Given the description of an element on the screen output the (x, y) to click on. 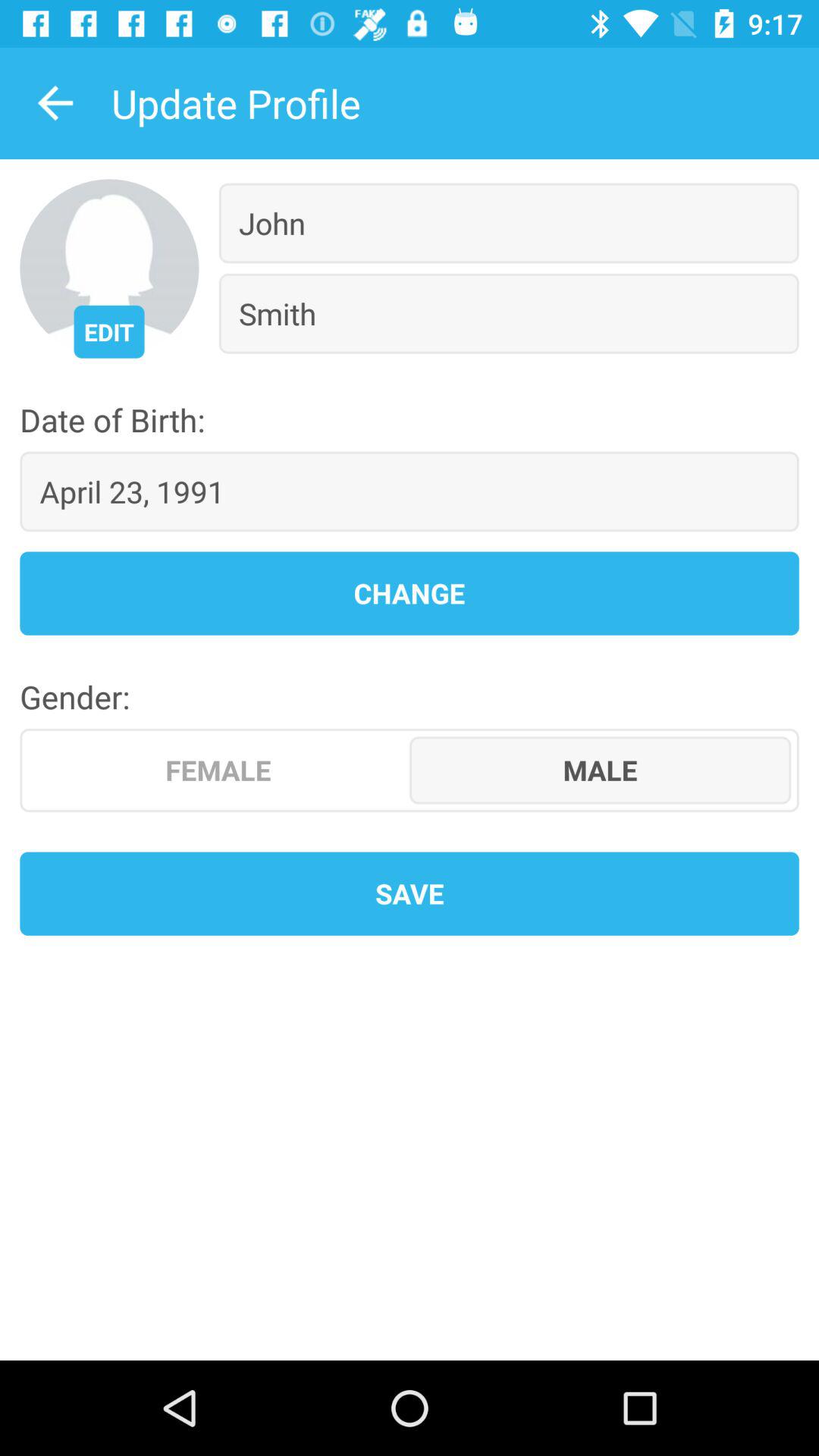
turn on female icon (218, 770)
